Given the description of an element on the screen output the (x, y) to click on. 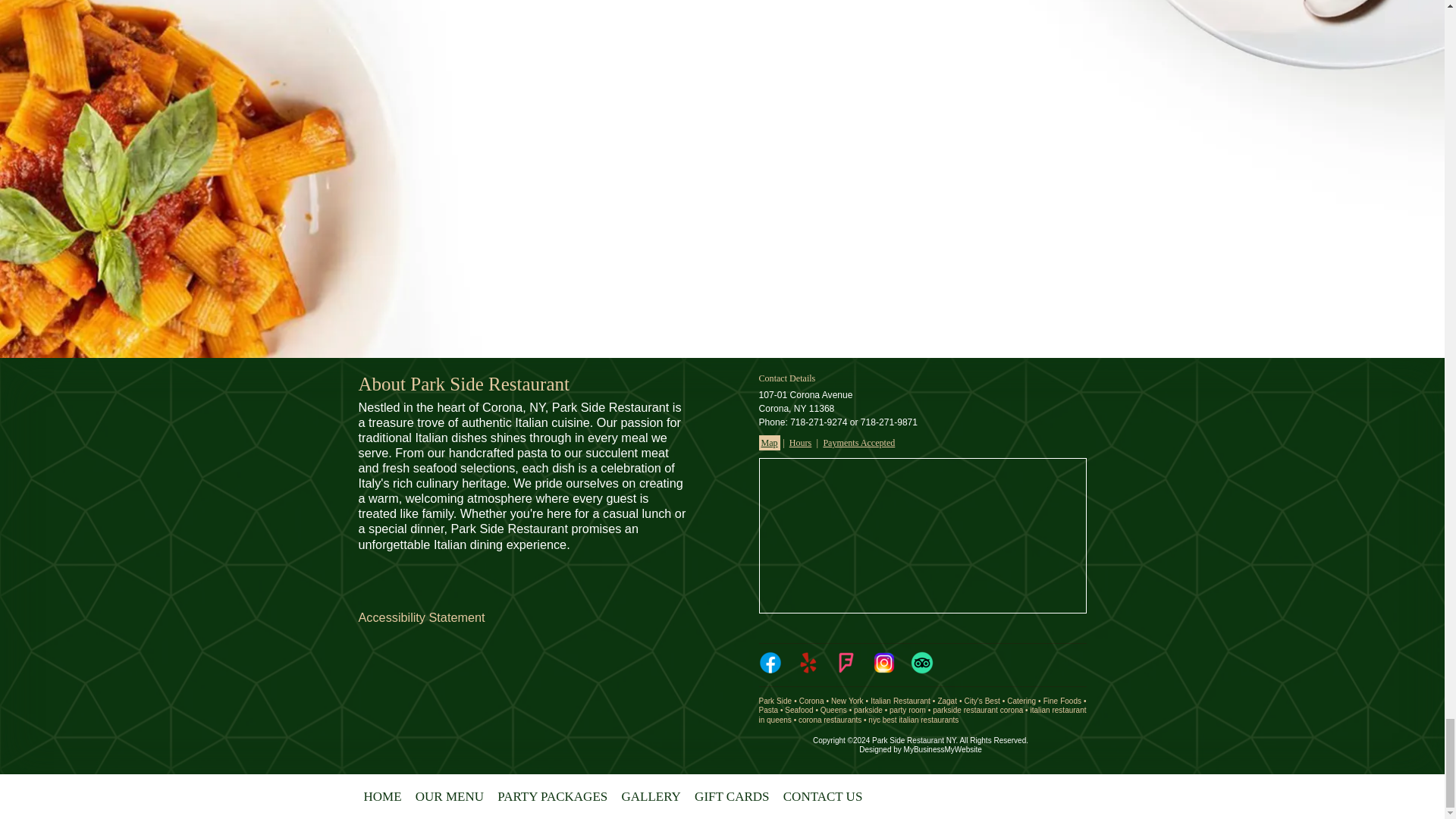
Hours (800, 442)
718-271-9274 (818, 421)
Map (768, 442)
718-271-9871 (888, 421)
Payments Accepted (858, 442)
Accessibility Statement (421, 618)
Submit (721, 189)
